Given the description of an element on the screen output the (x, y) to click on. 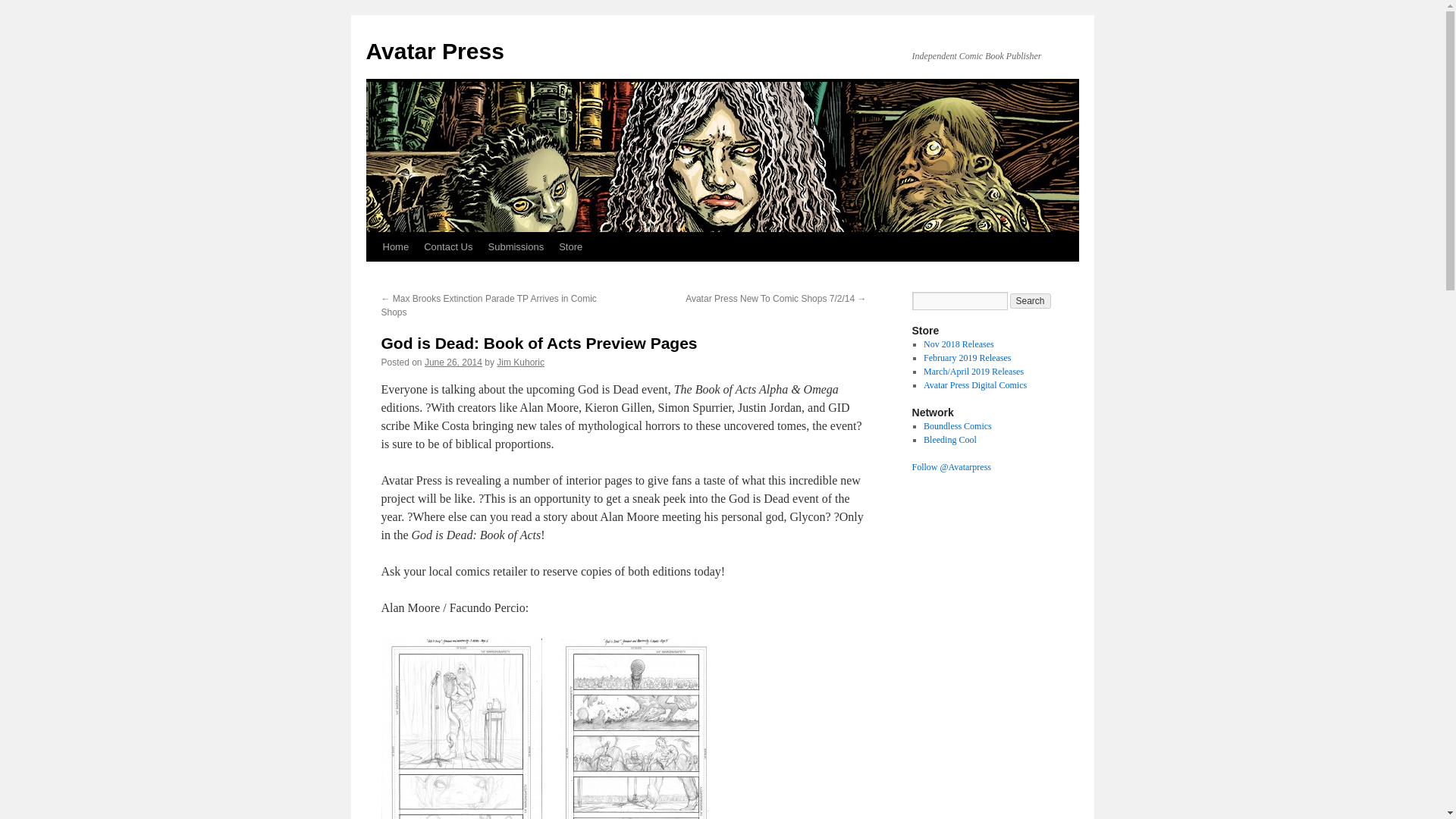
Search (1030, 300)
View all posts by Jim Kuhoric (520, 362)
Submissions (515, 246)
12:00 pm (453, 362)
Contact Us (448, 246)
Jim Kuhoric (520, 362)
Store (570, 246)
February 2019 Releases (966, 357)
Home (395, 246)
Avatar Press (434, 50)
Avatar Press (434, 50)
Search (1030, 300)
Nov 2018 Releases (958, 344)
June 26, 2014 (453, 362)
